Given the description of an element on the screen output the (x, y) to click on. 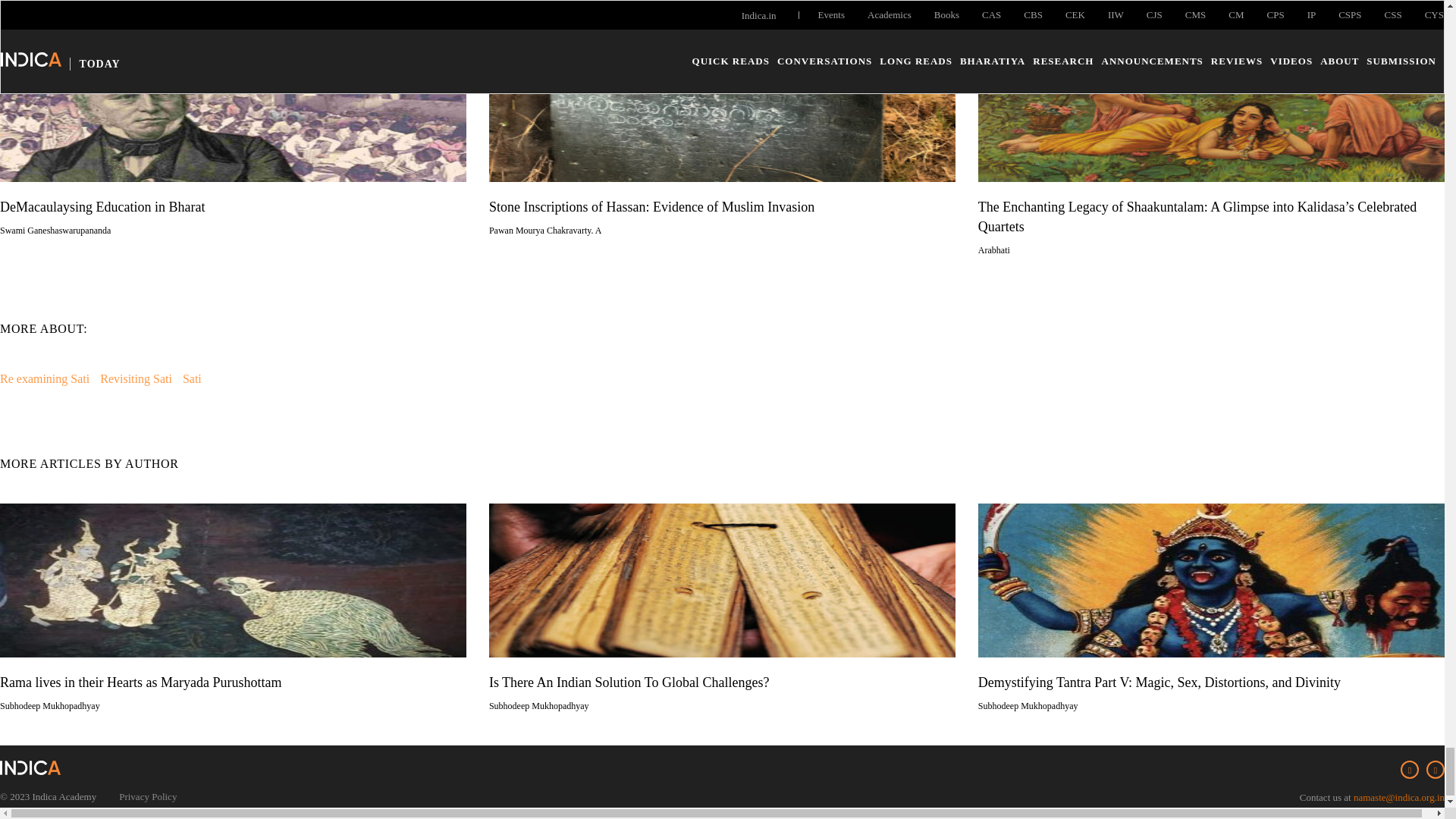
Revisiting Sati (135, 378)
Sati (192, 378)
Re examining Sati (44, 378)
